Given the description of an element on the screen output the (x, y) to click on. 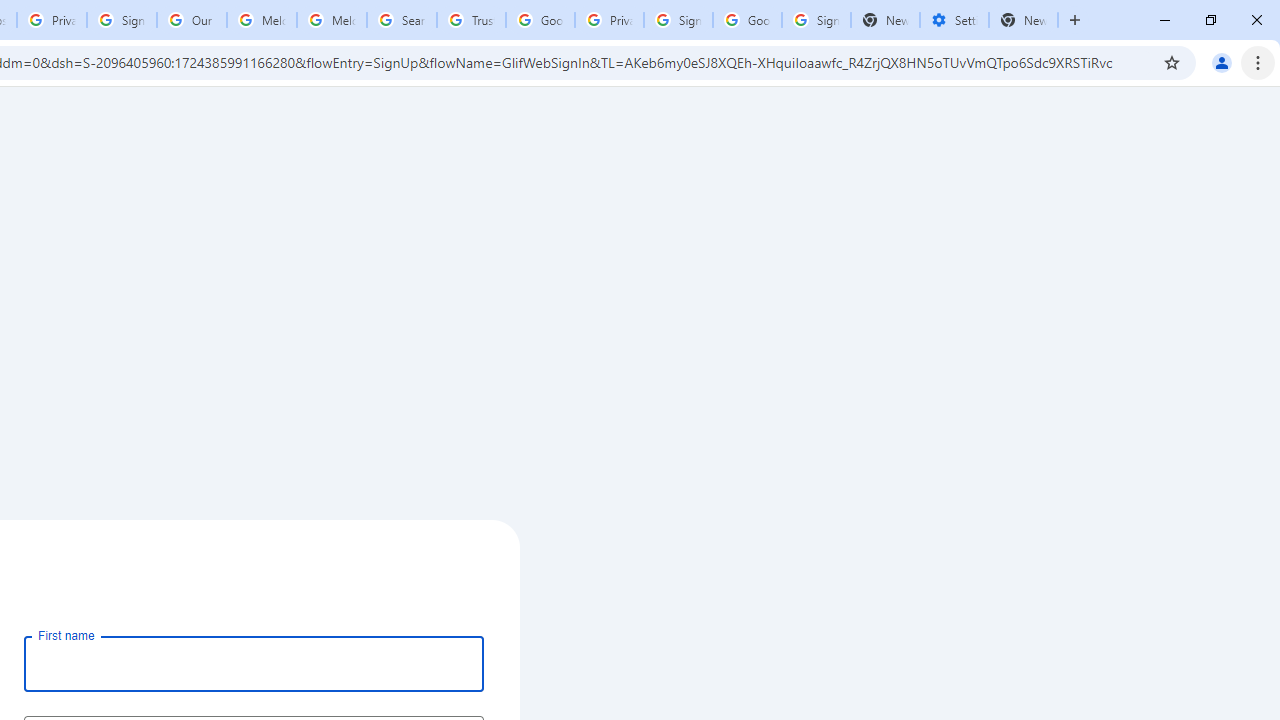
Settings - Addresses and more (954, 20)
Sign in - Google Accounts (816, 20)
You (1221, 62)
